Given the description of an element on the screen output the (x, y) to click on. 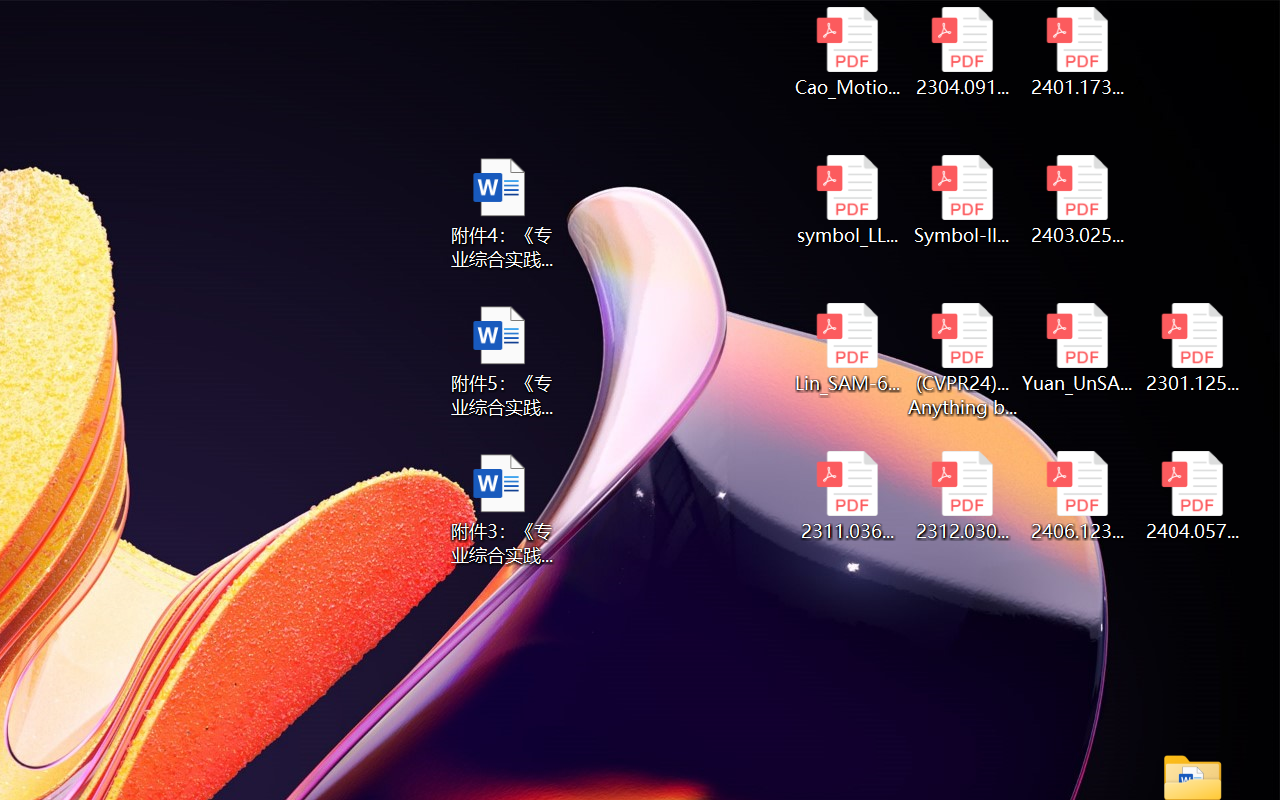
2301.12597v3.pdf (1192, 348)
2404.05719v1.pdf (1192, 496)
2406.12373v2.pdf (1077, 496)
2401.17399v1.pdf (1077, 52)
2312.03032v2.pdf (962, 496)
(CVPR24)Matching Anything by Segmenting Anything.pdf (962, 360)
2304.09121v3.pdf (962, 52)
2403.02502v1.pdf (1077, 200)
Symbol-llm-v2.pdf (962, 200)
